Given the description of an element on the screen output the (x, y) to click on. 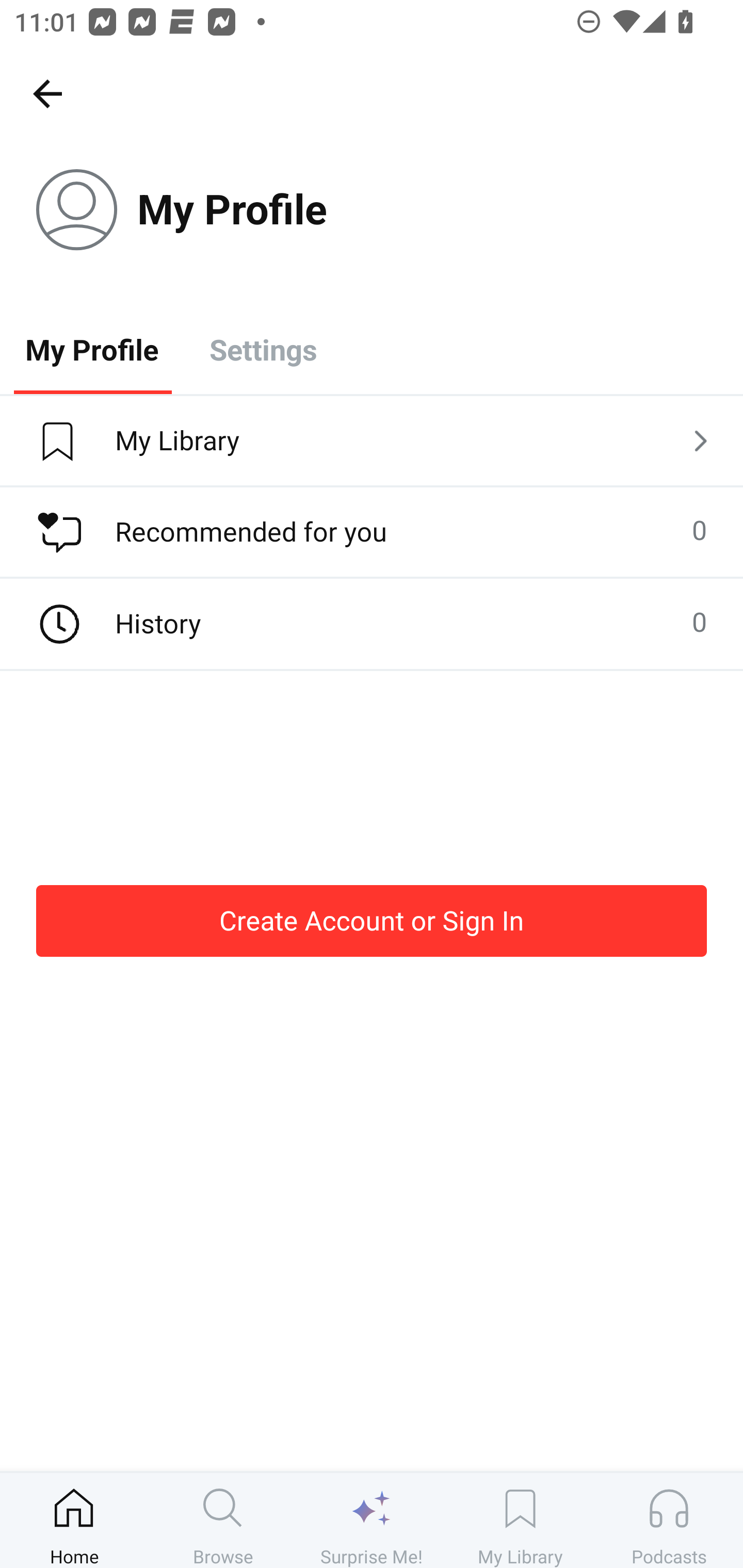
Home, back (47, 92)
My Profile (92, 348)
Settings (263, 348)
My Library (371, 441)
Recommended for you 0 (371, 532)
History 0 (371, 623)
Create Account or Sign In (371, 920)
Home (74, 1520)
Browse (222, 1520)
Surprise Me! (371, 1520)
My Library (519, 1520)
Podcasts (668, 1520)
